Given the description of an element on the screen output the (x, y) to click on. 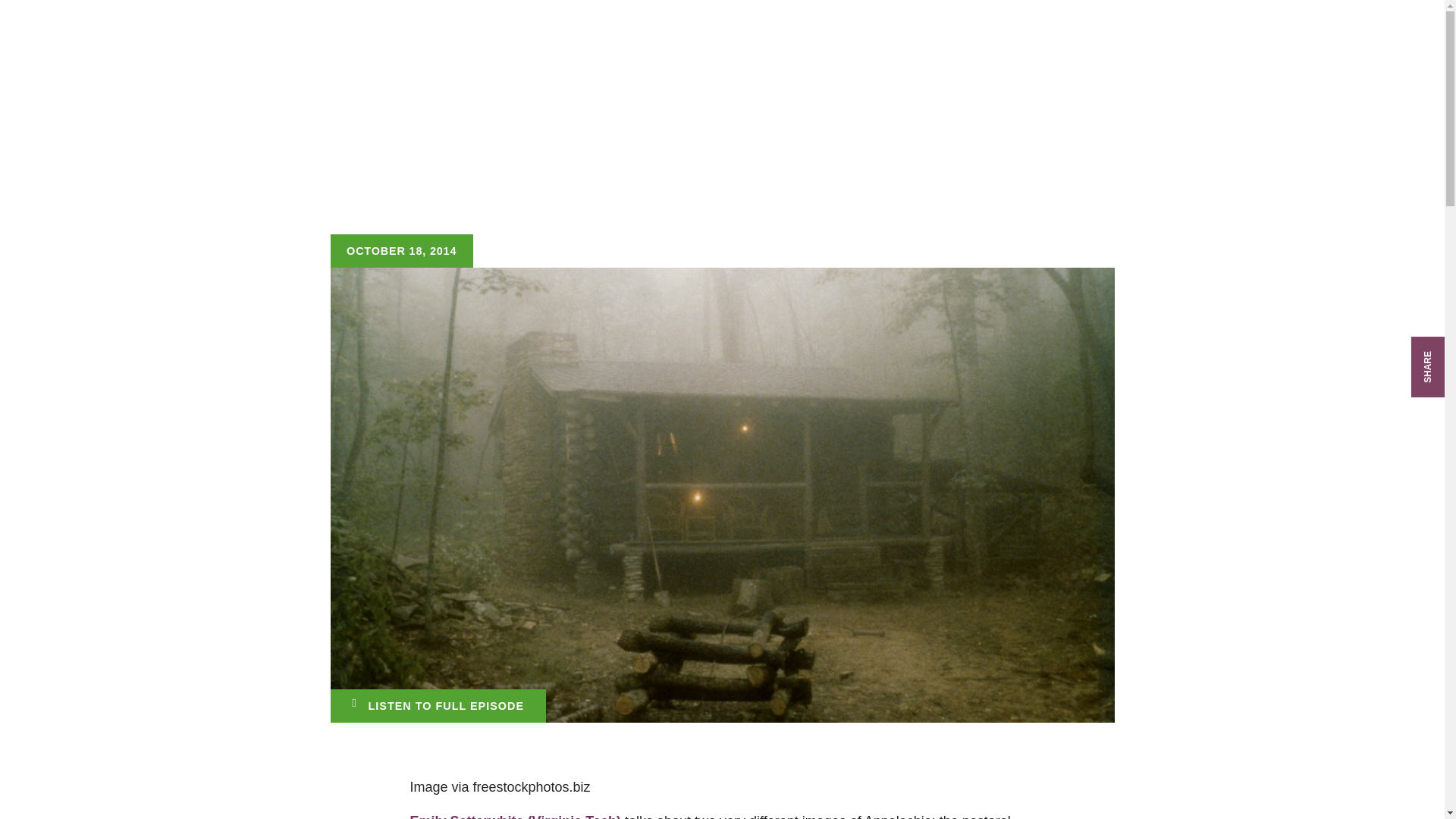
Subscribe (1121, 45)
Blog (865, 45)
Horror in the Hills (438, 705)
About WGR (941, 45)
Episodes (799, 45)
Give (1191, 45)
Schedule (1035, 45)
